Given the description of an element on the screen output the (x, y) to click on. 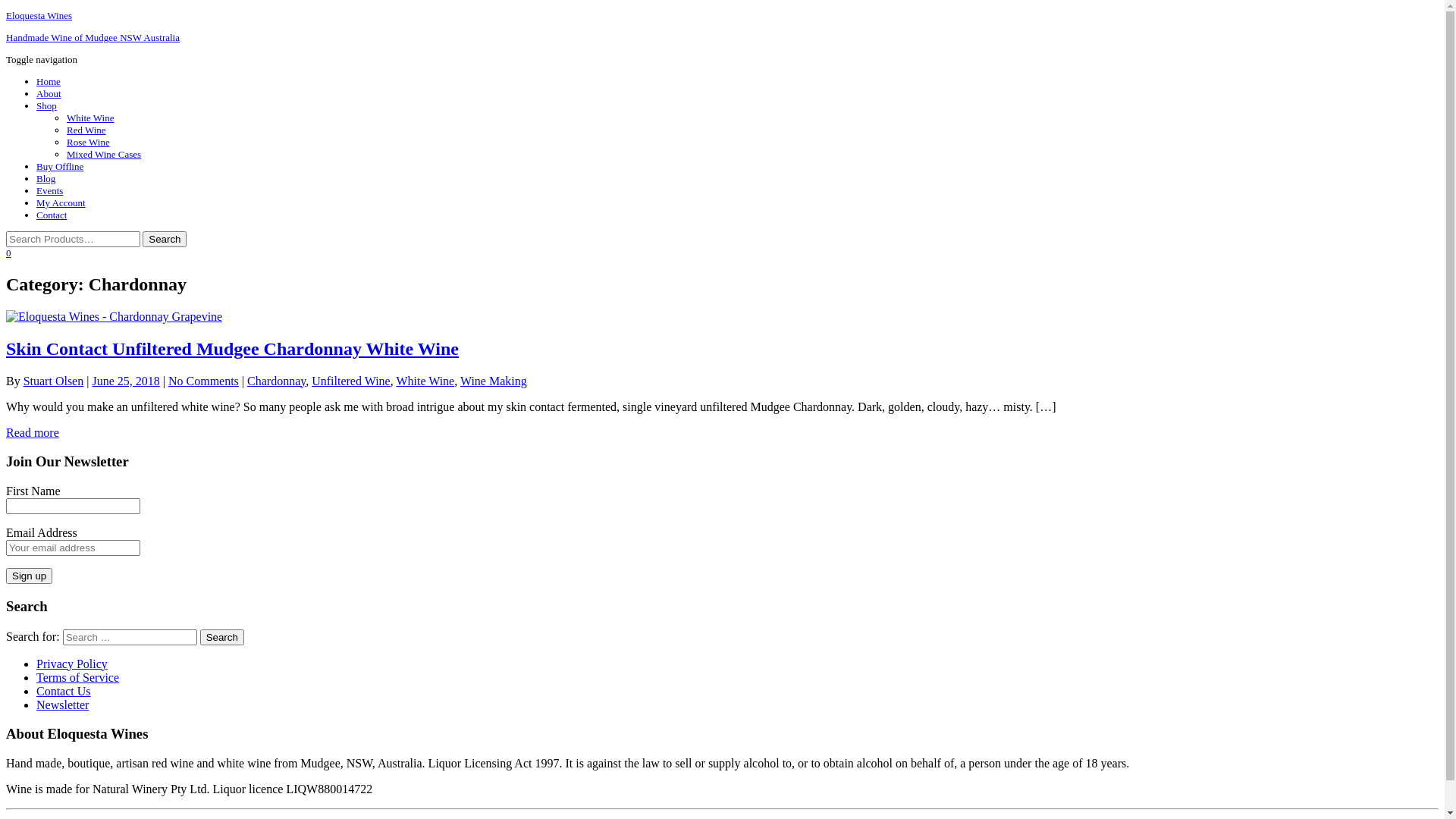
Chardonnay Element type: text (276, 380)
Newsletter Element type: text (62, 703)
Mixed Wine Cases Element type: text (103, 154)
Sign up Element type: text (29, 575)
About Element type: text (48, 93)
Shop Element type: text (46, 105)
Search Element type: text (222, 637)
White Wine Element type: text (89, 117)
Blog Element type: text (45, 178)
Contact Element type: text (51, 214)
June 25, 2018 Element type: text (125, 380)
Handmade Wine of Mudgee NSW Australia Element type: text (92, 37)
No Comments Element type: text (203, 380)
Rose Wine Element type: text (87, 141)
Red Wine Element type: text (86, 129)
White Wine Element type: text (424, 380)
Privacy Policy Element type: text (71, 662)
Contact Us Element type: text (63, 690)
Search Element type: text (164, 239)
Eloquesta Wines Element type: text (39, 15)
My Account Element type: text (60, 202)
Wine Making Element type: text (493, 380)
Stuart Olsen Element type: text (53, 380)
Search for: Element type: hover (73, 239)
Unfiltered Wine Element type: text (350, 380)
Events Element type: text (49, 190)
Terms of Service Element type: text (77, 676)
0 Element type: text (8, 252)
Buy Offline Element type: text (59, 166)
Home Element type: text (48, 81)
Skin Contact Unfiltered Mudgee Chardonnay White Wine Element type: text (232, 348)
Read more Element type: text (32, 432)
